Given the description of an element on the screen output the (x, y) to click on. 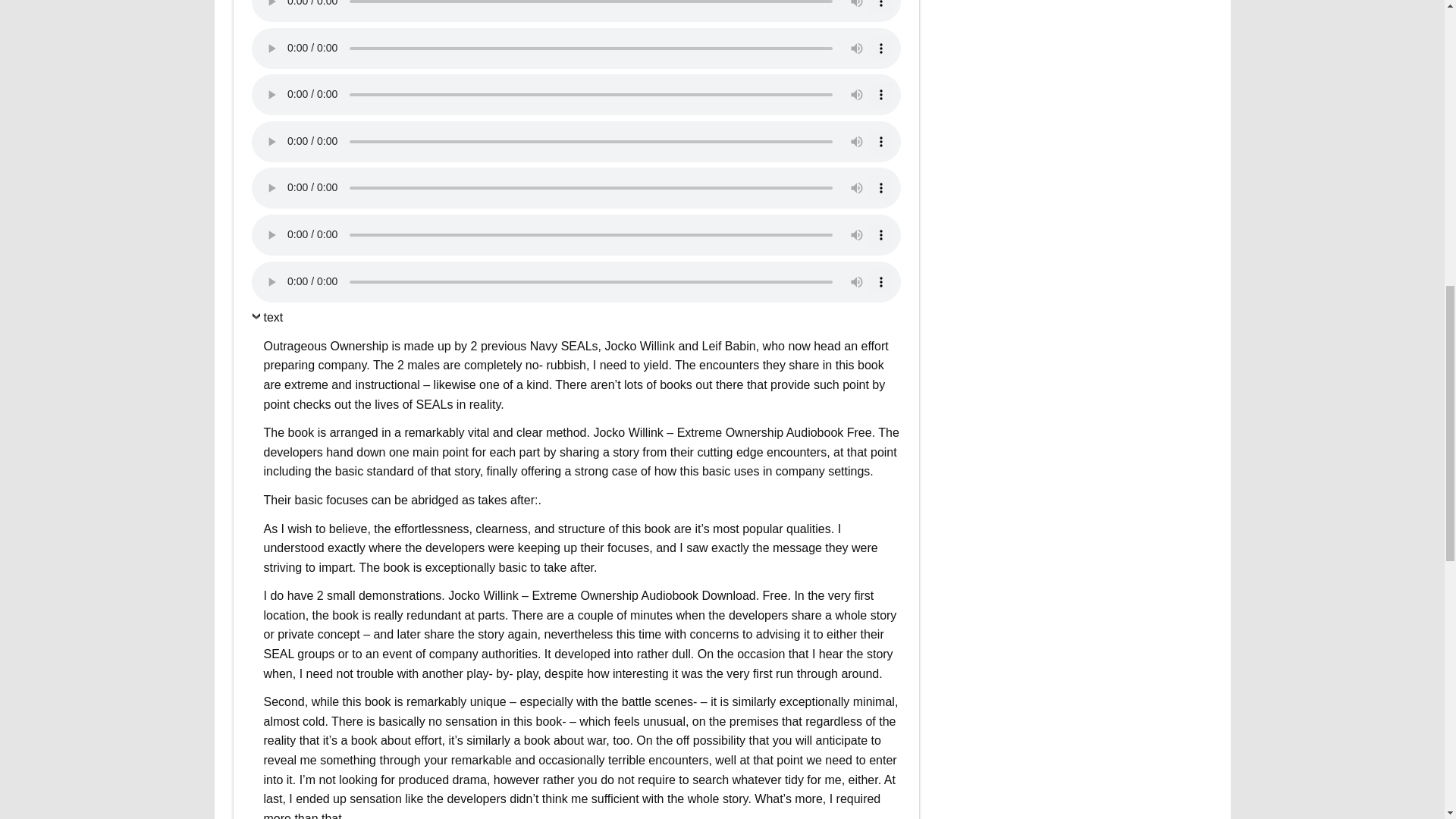
text (267, 321)
